Given the description of an element on the screen output the (x, y) to click on. 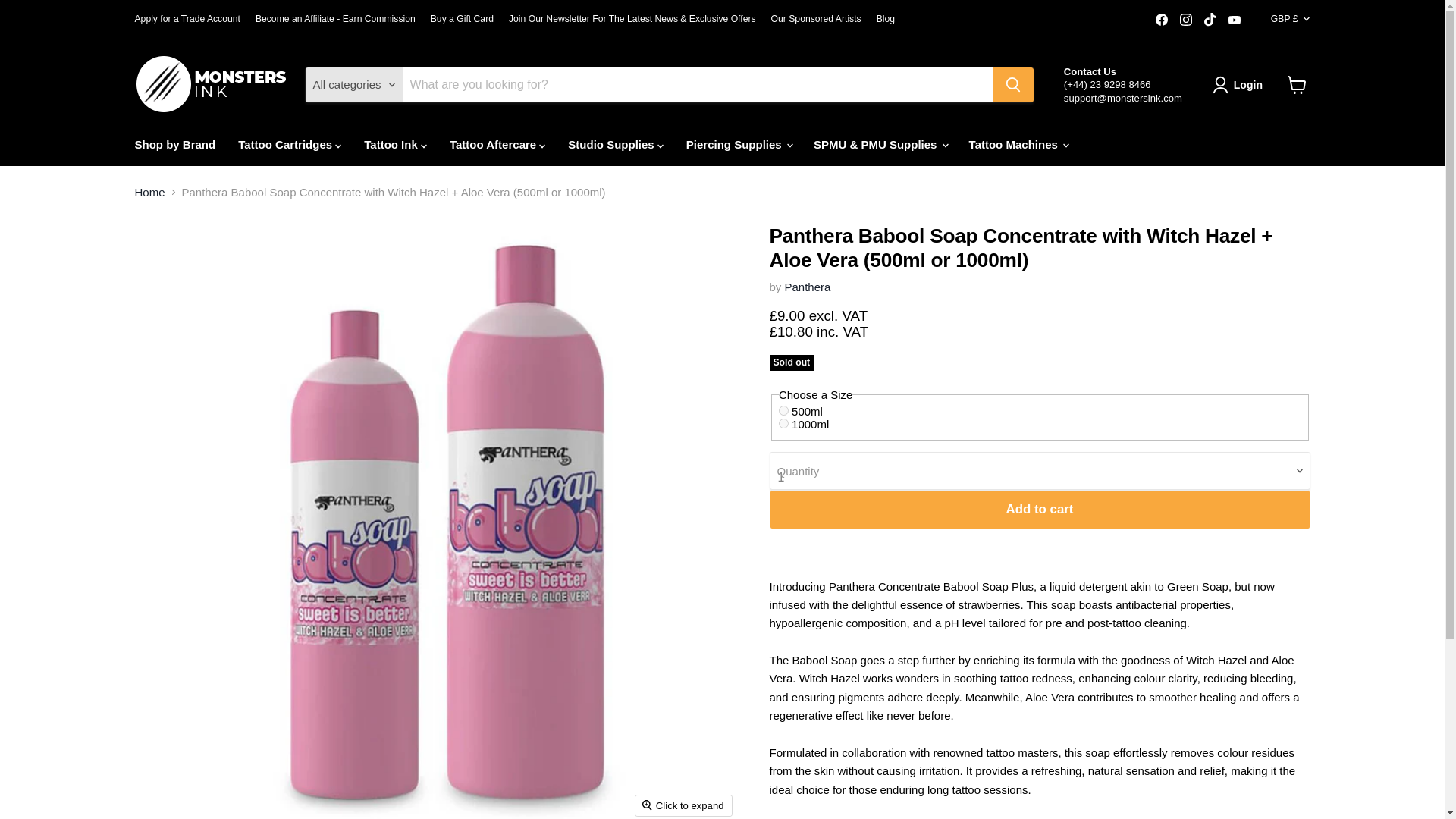
YouTube (1234, 19)
Instagram (1185, 19)
View cart (1296, 84)
Panthera (807, 286)
Facebook (1161, 19)
Shop by Brand (174, 143)
Find us on TikTok (1210, 19)
Apply for a Trade Account (187, 18)
TikTok (1210, 19)
Our Sponsored Artists (816, 18)
500ml (783, 410)
1000ml (783, 423)
Login (1240, 85)
Find us on YouTube (1234, 19)
Find us on Instagram (1185, 19)
